Given the description of an element on the screen output the (x, y) to click on. 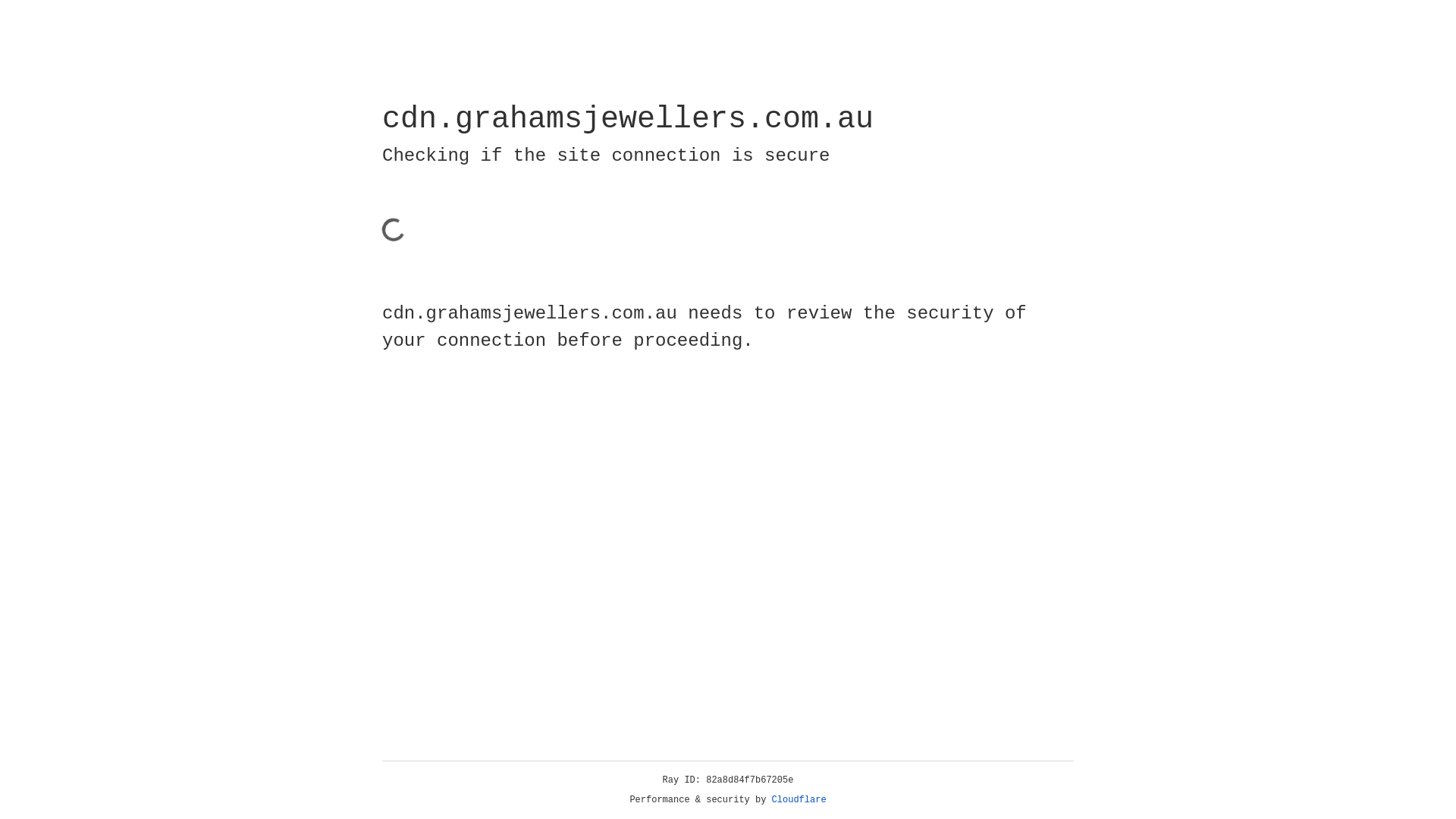
Cloudflare Element type: text (798, 799)
